Given the description of an element on the screen output the (x, y) to click on. 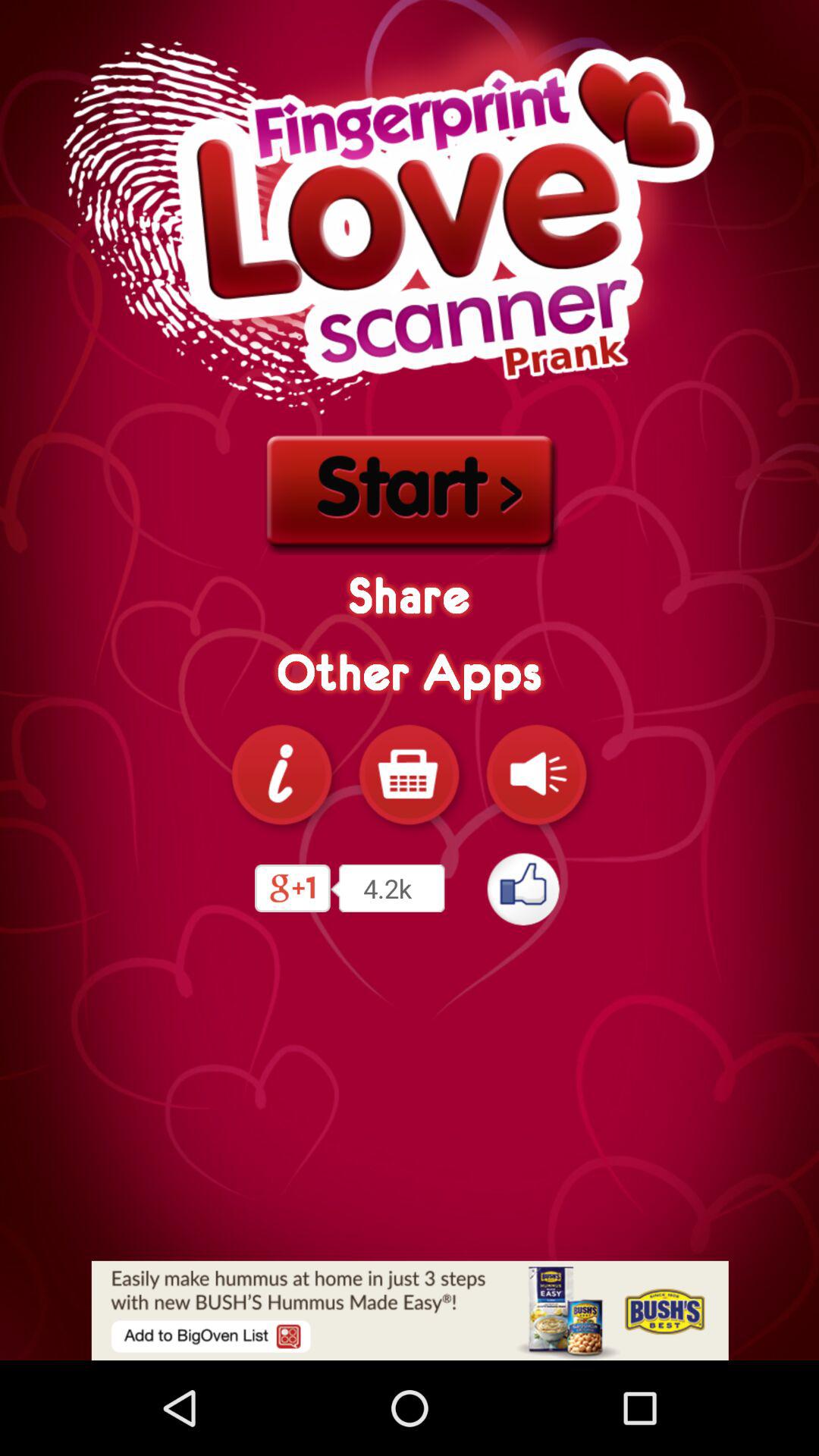
like this app (524, 888)
